Given the description of an element on the screen output the (x, y) to click on. 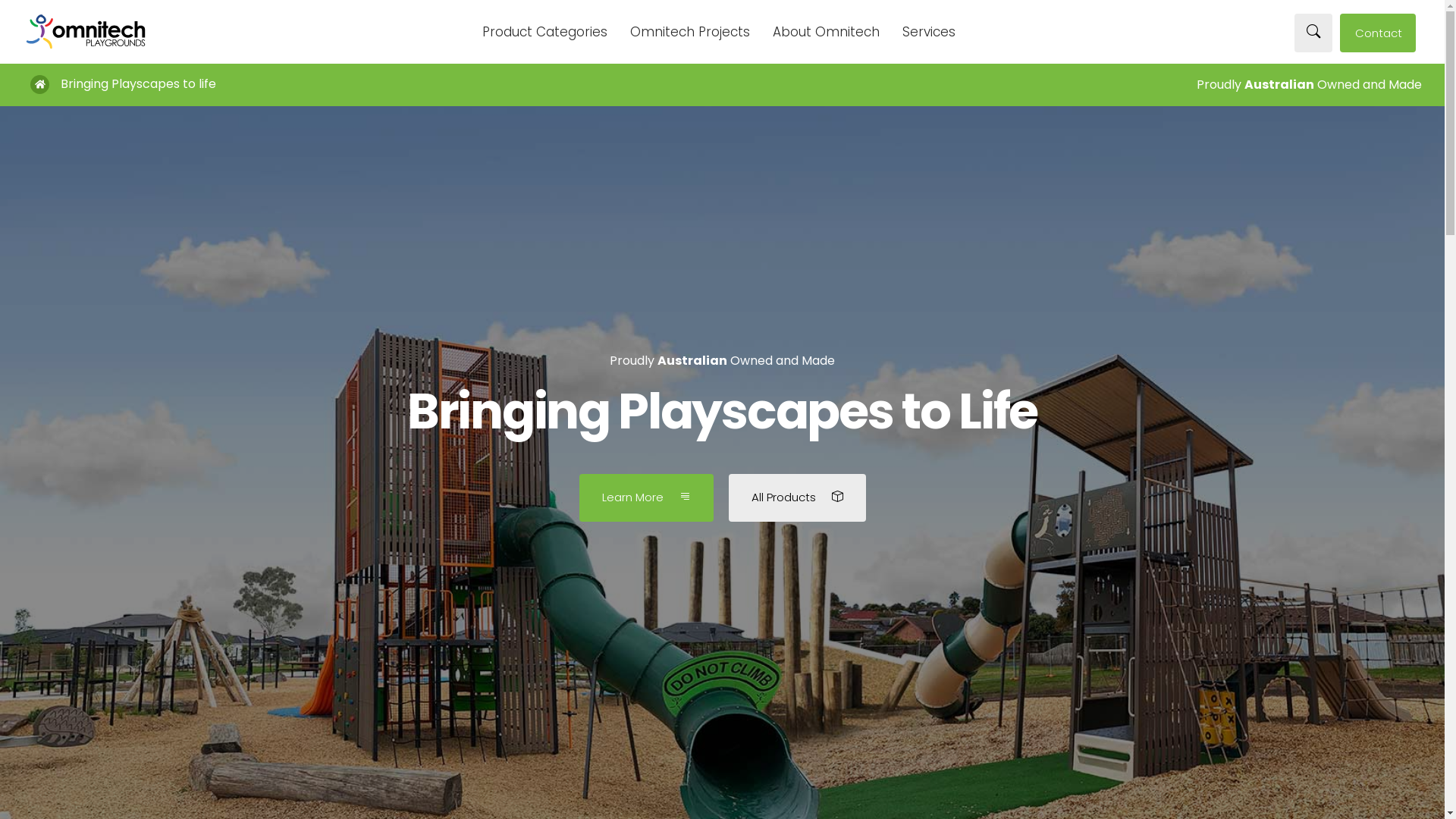
Learn More Element type: text (646, 497)
About Omnitech Element type: text (826, 33)
Contact Element type: text (1377, 32)
Product Categories Element type: text (544, 33)
All Products Element type: text (796, 497)
Omnitech Projects Element type: text (689, 33)
Services Element type: text (928, 33)
